Given the description of an element on the screen output the (x, y) to click on. 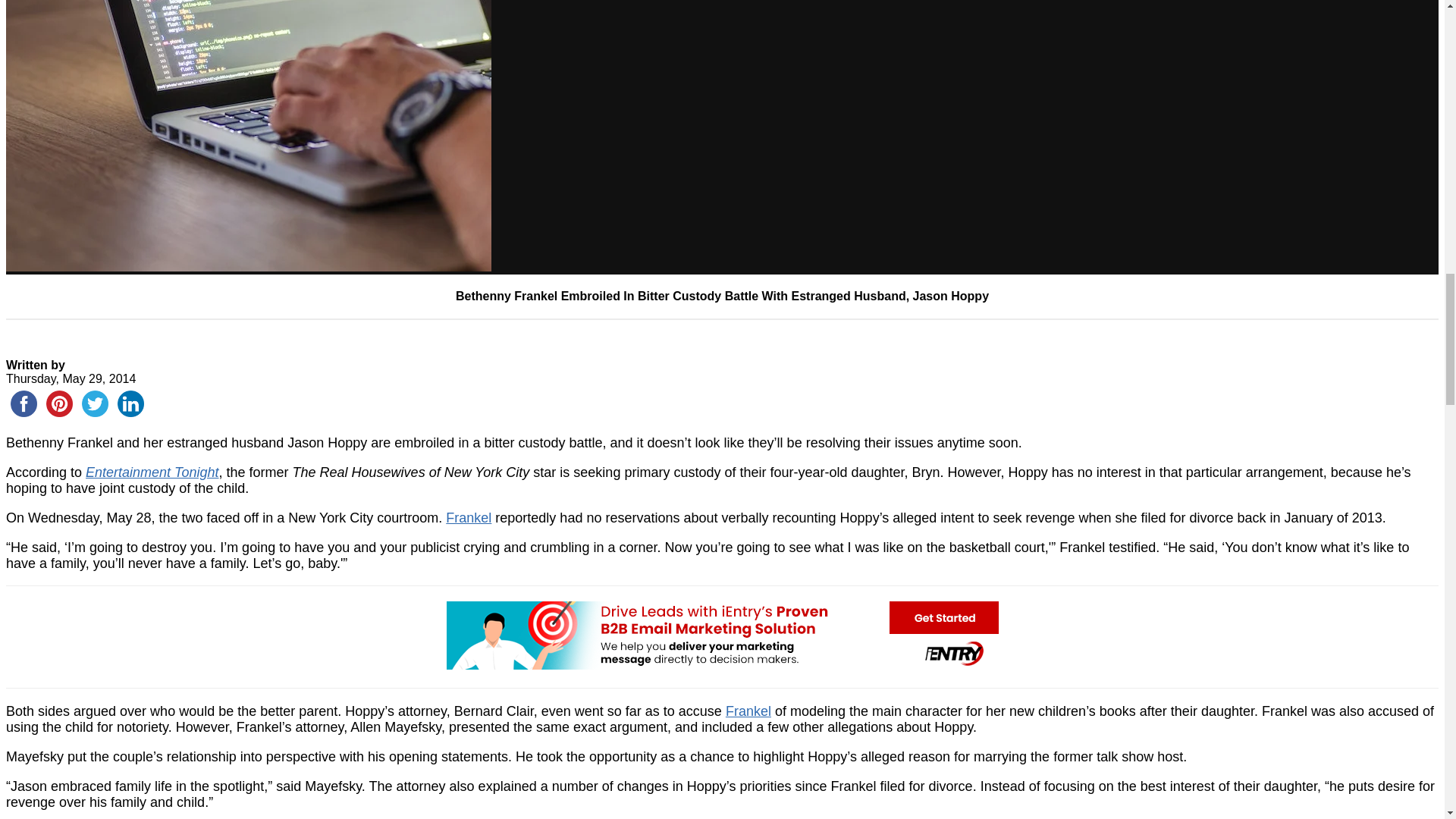
linkedin (130, 403)
twitter (95, 403)
facebook (23, 403)
pinterest (59, 403)
